Given the description of an element on the screen output the (x, y) to click on. 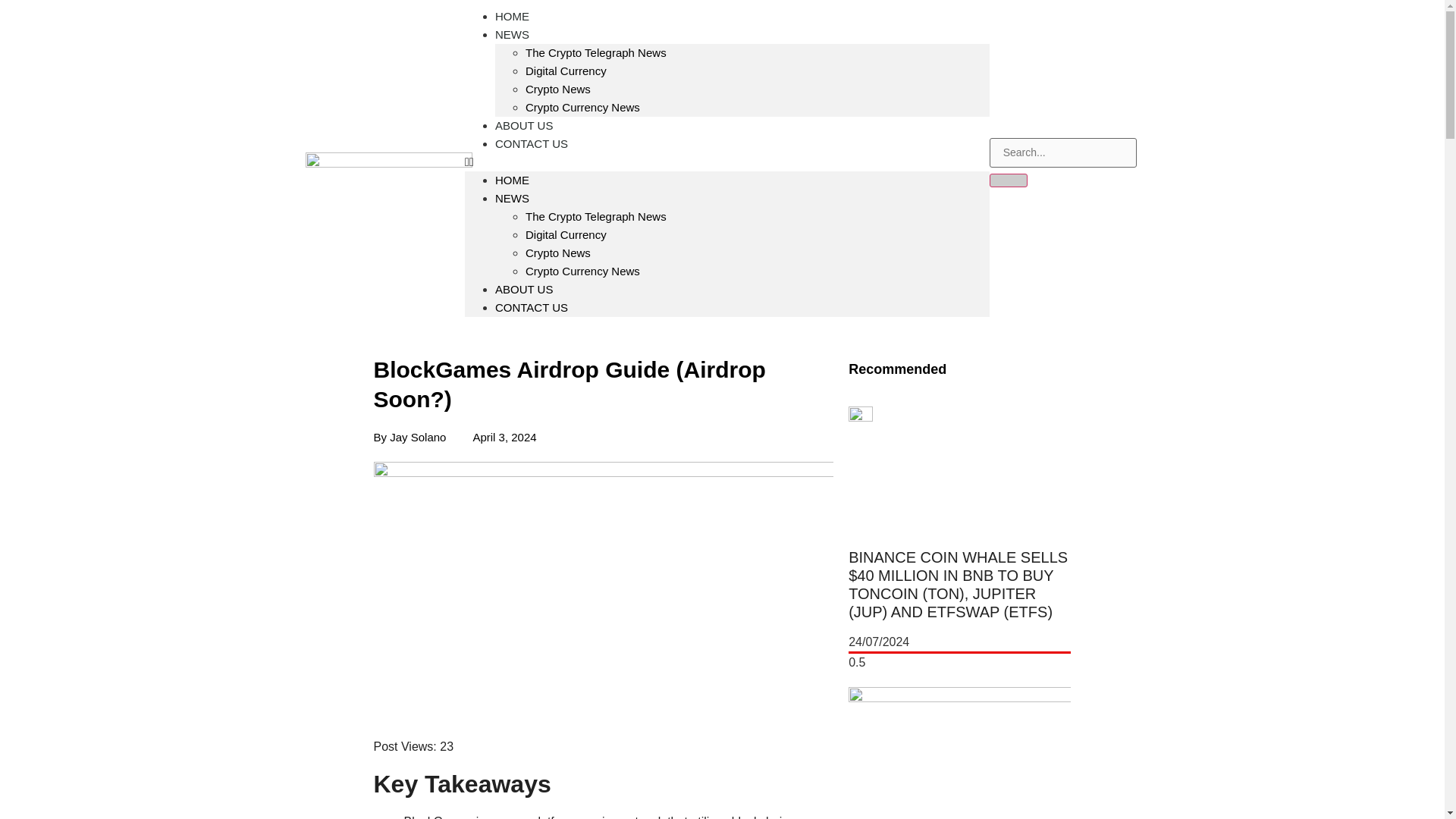
CONTACT US (531, 143)
The Crypto Telegraph News (595, 51)
Crypto News (558, 88)
ABOUT US (524, 125)
HOME (512, 26)
Crypto Currency News (582, 106)
Digital Currency (566, 70)
CONTACT US (531, 307)
Digital Currency (566, 234)
Crypto Currency News (582, 270)
HOME (512, 179)
NEWS (512, 35)
ABOUT US (524, 288)
The Crypto Telegraph News (595, 215)
NEWS (512, 197)
